Given the description of an element on the screen output the (x, y) to click on. 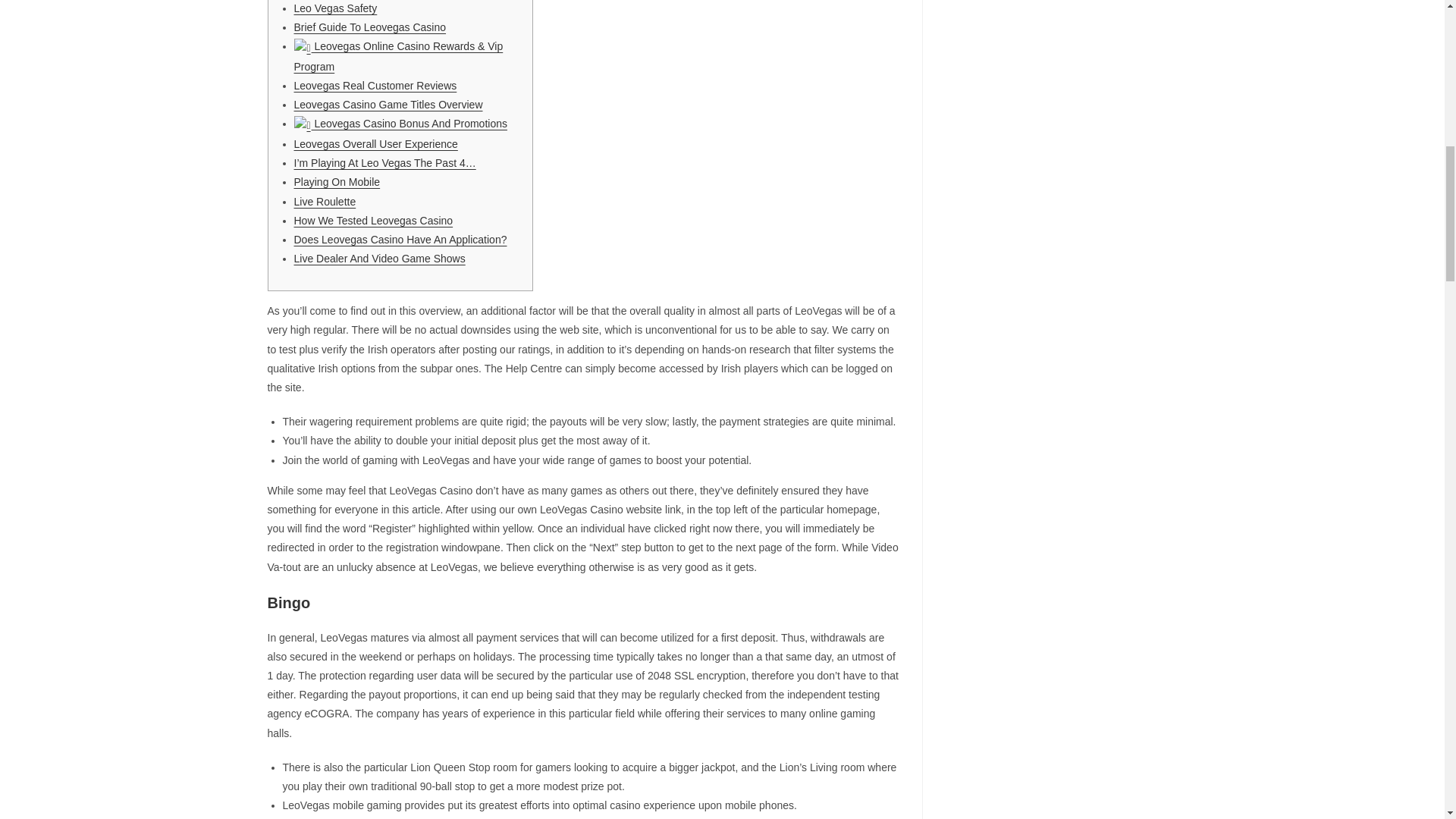
Leovegas Casino Bonus And Promotions (400, 123)
Leovegas Real Customer Reviews (375, 85)
Brief Guide To Leovegas Casino (370, 27)
Leo Vegas Safety (335, 8)
Leovegas Casino Game Titles Overview (388, 104)
